Given the description of an element on the screen output the (x, y) to click on. 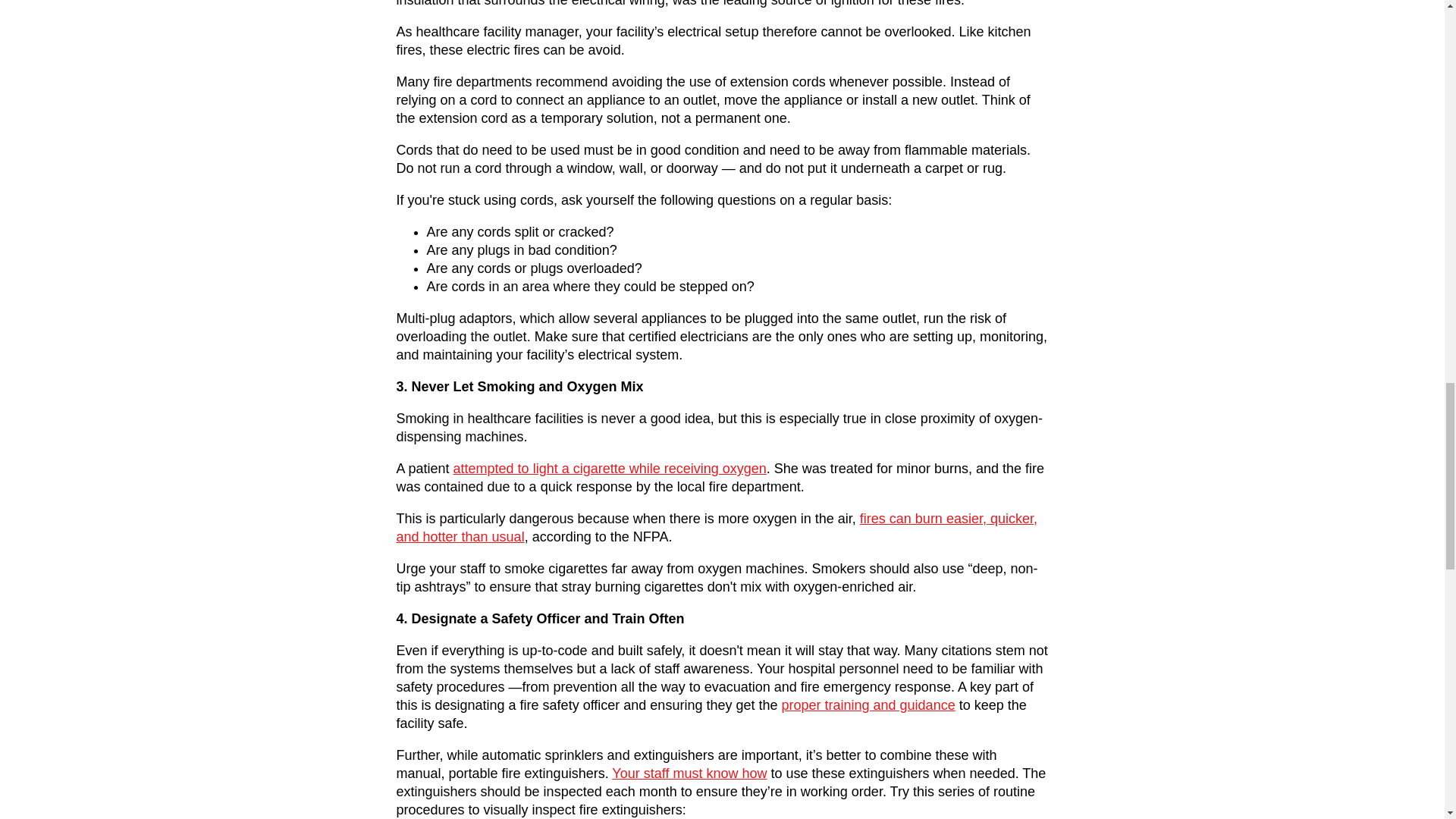
fires can burn easier, quicker, and hotter than usual (716, 527)
attempted to light a cigarette while receiving oxygen (609, 468)
proper training and guidance (867, 704)
